Given the description of an element on the screen output the (x, y) to click on. 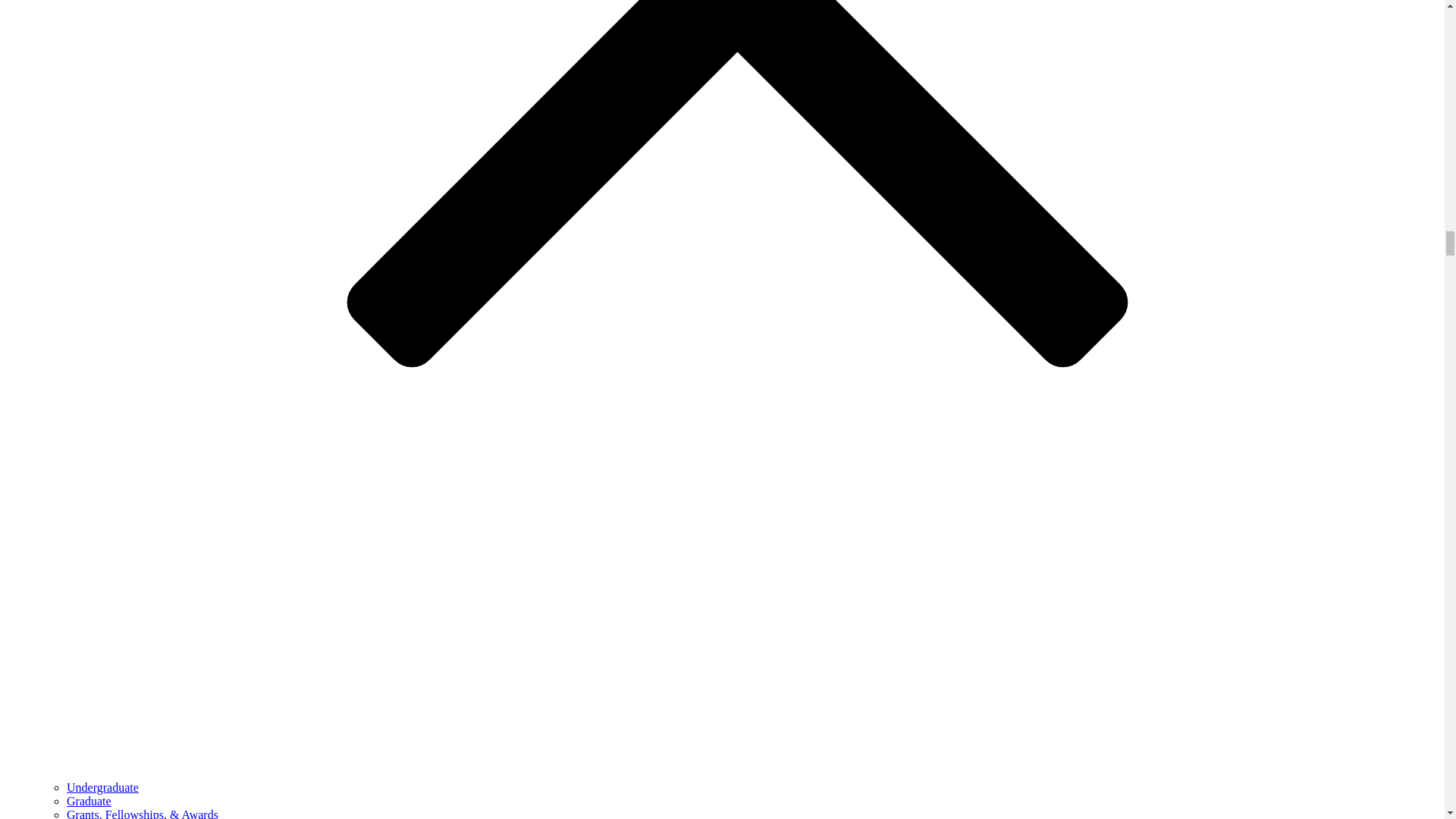
Graduate (89, 800)
Undergraduate (102, 787)
